Given the description of an element on the screen output the (x, y) to click on. 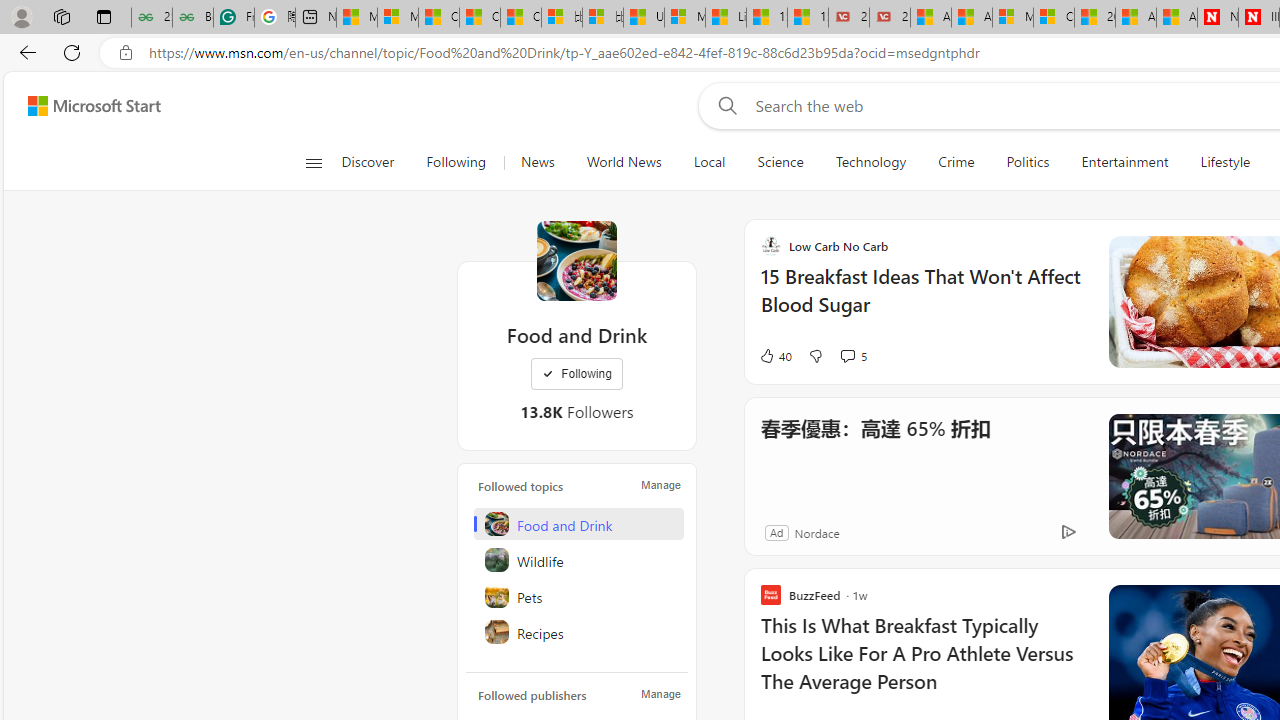
20 Ways to Boost Your Protein Intake at Every Meal (1094, 17)
40 Like (775, 355)
